Given the description of an element on the screen output the (x, y) to click on. 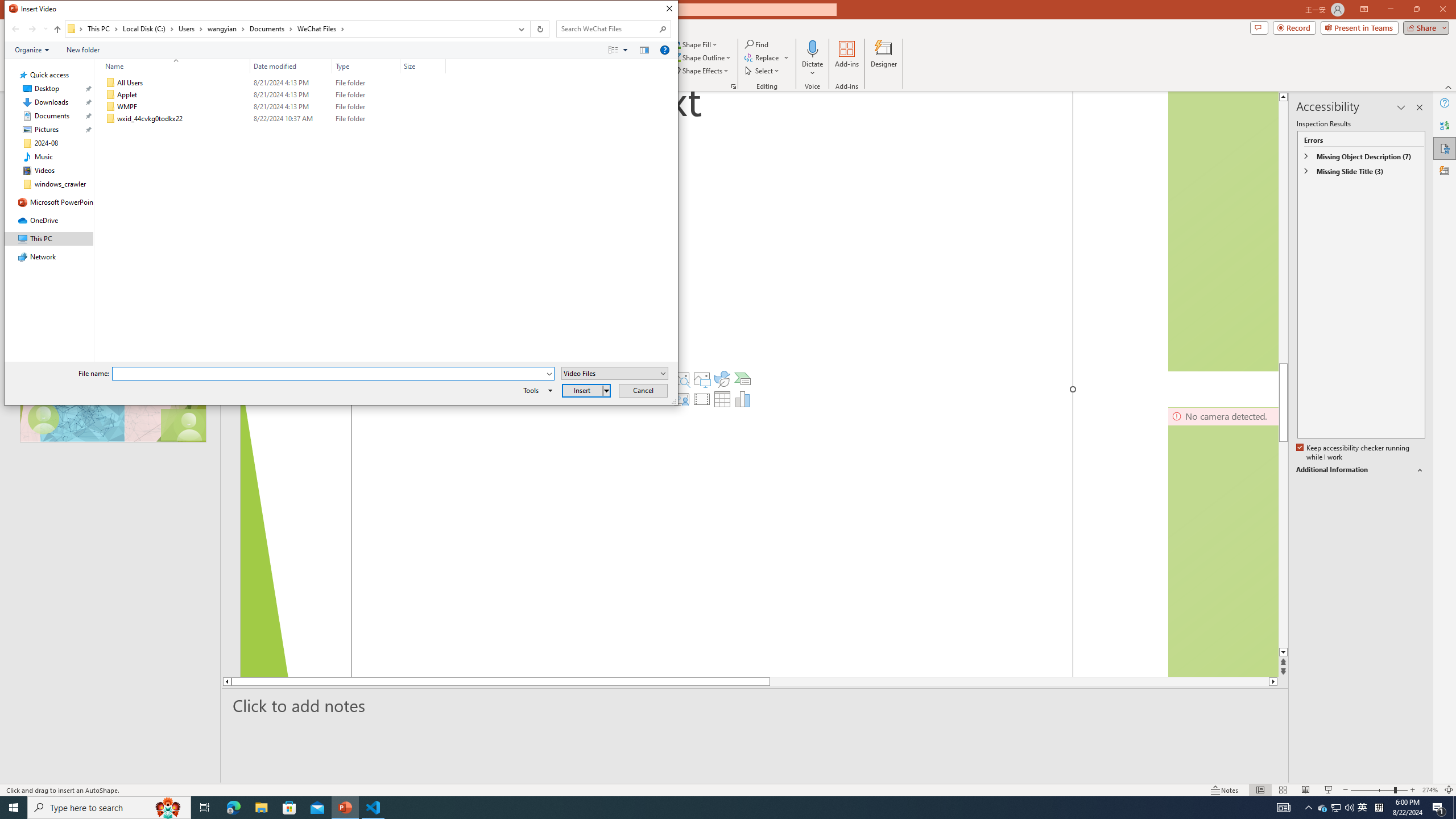
Camera 5, No camera detected. (1222, 231)
Forward (Alt + Right Arrow) (31, 28)
Name (183, 119)
New folder (82, 49)
Name (173, 65)
Organize (31, 49)
IME Mode Icon - IME is disabled (1362, 807)
